Given the description of an element on the screen output the (x, y) to click on. 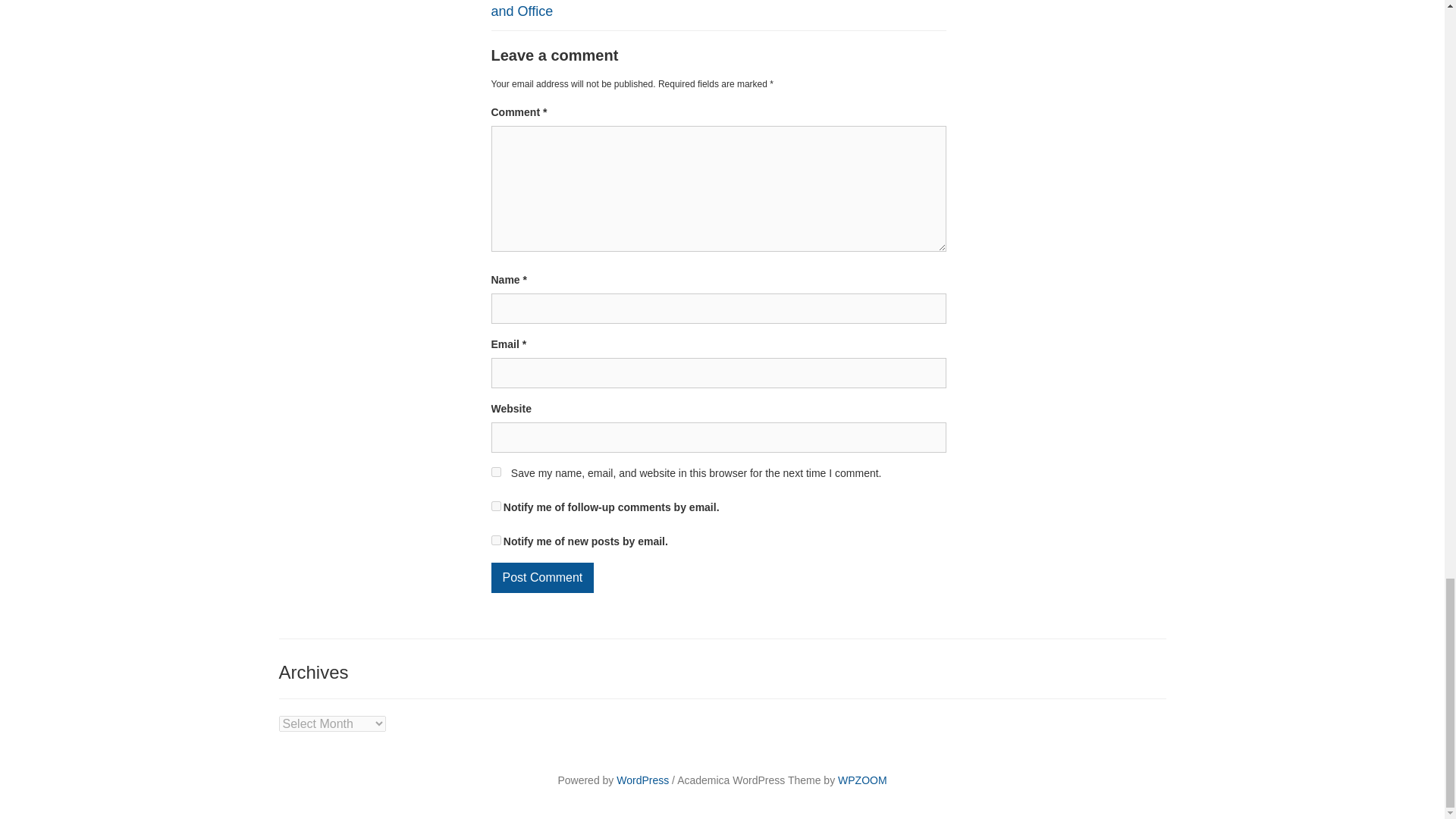
subscribe (496, 506)
subscribe (496, 540)
Post Comment (543, 577)
yes (496, 471)
